Given the description of an element on the screen output the (x, y) to click on. 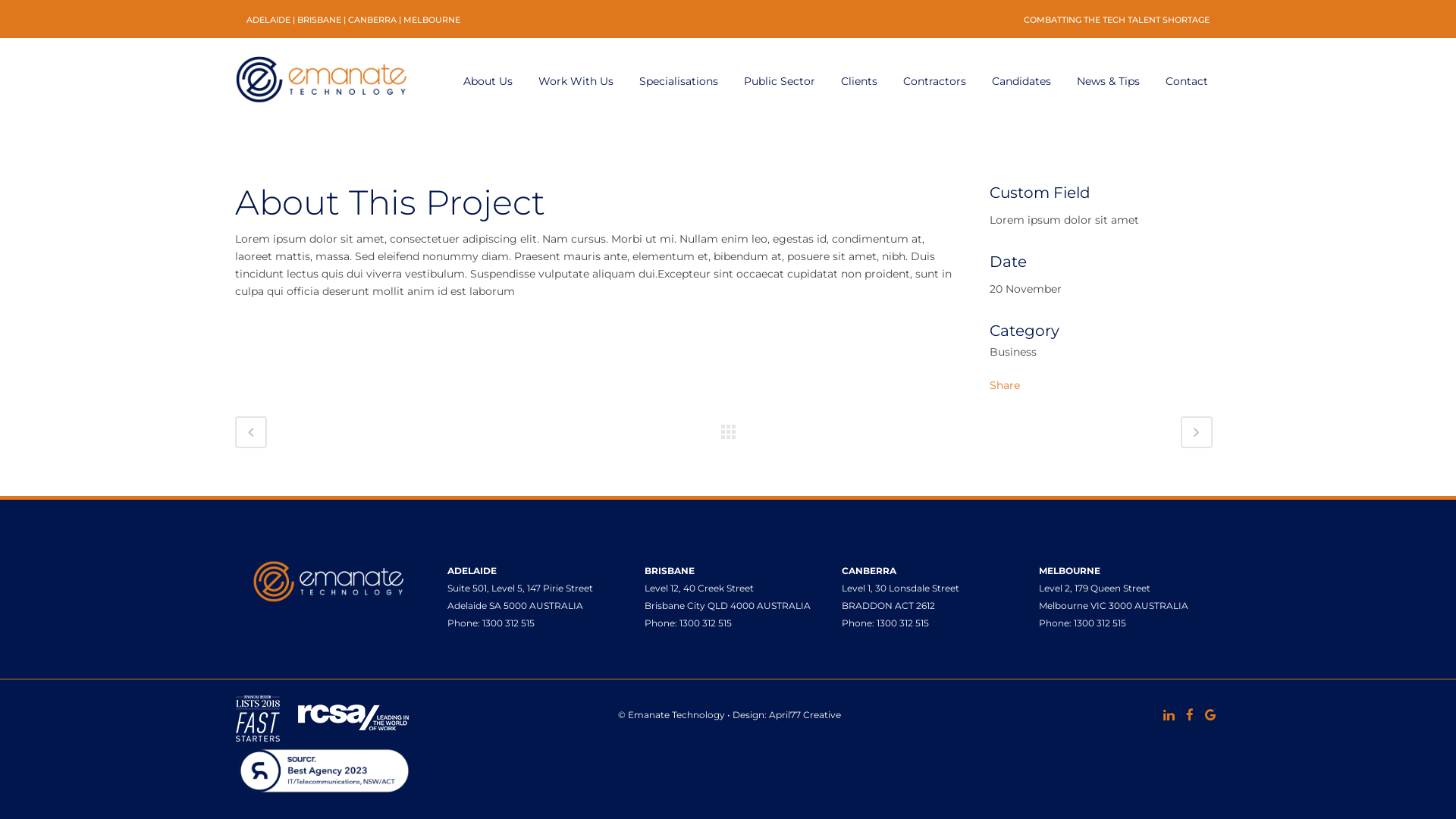
Contact Element type: text (1186, 80)
Candidates Element type: text (1021, 80)
Work With Us Element type: text (575, 80)
Public Sector Element type: text (779, 80)
April77 Creative Element type: text (804, 714)
Clients Element type: text (858, 80)
News & Tips Element type: text (1107, 80)
Share Element type: text (1004, 385)
About Us Element type: text (487, 80)
Specialisations Element type: text (678, 80)
Contractors Element type: text (934, 80)
